Given the description of an element on the screen output the (x, y) to click on. 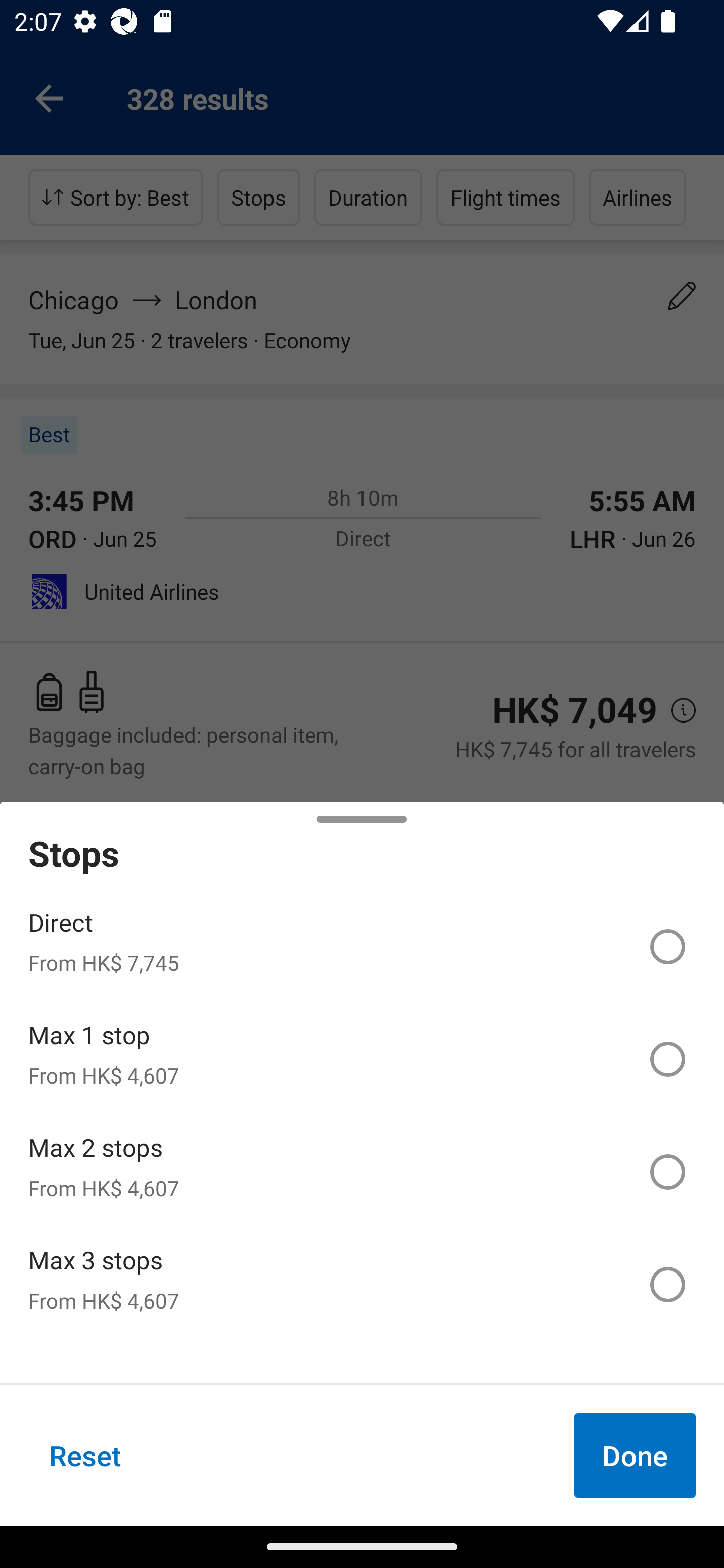
Direct From HK$ 7,745 (362, 946)
Max 1 stop From HK$ 4,607 (362, 1059)
Max 2 stops From HK$ 4,607 (362, 1171)
Max 3 stops From HK$ 4,607 (362, 1283)
Reset (85, 1454)
Done (634, 1454)
